Given the description of an element on the screen output the (x, y) to click on. 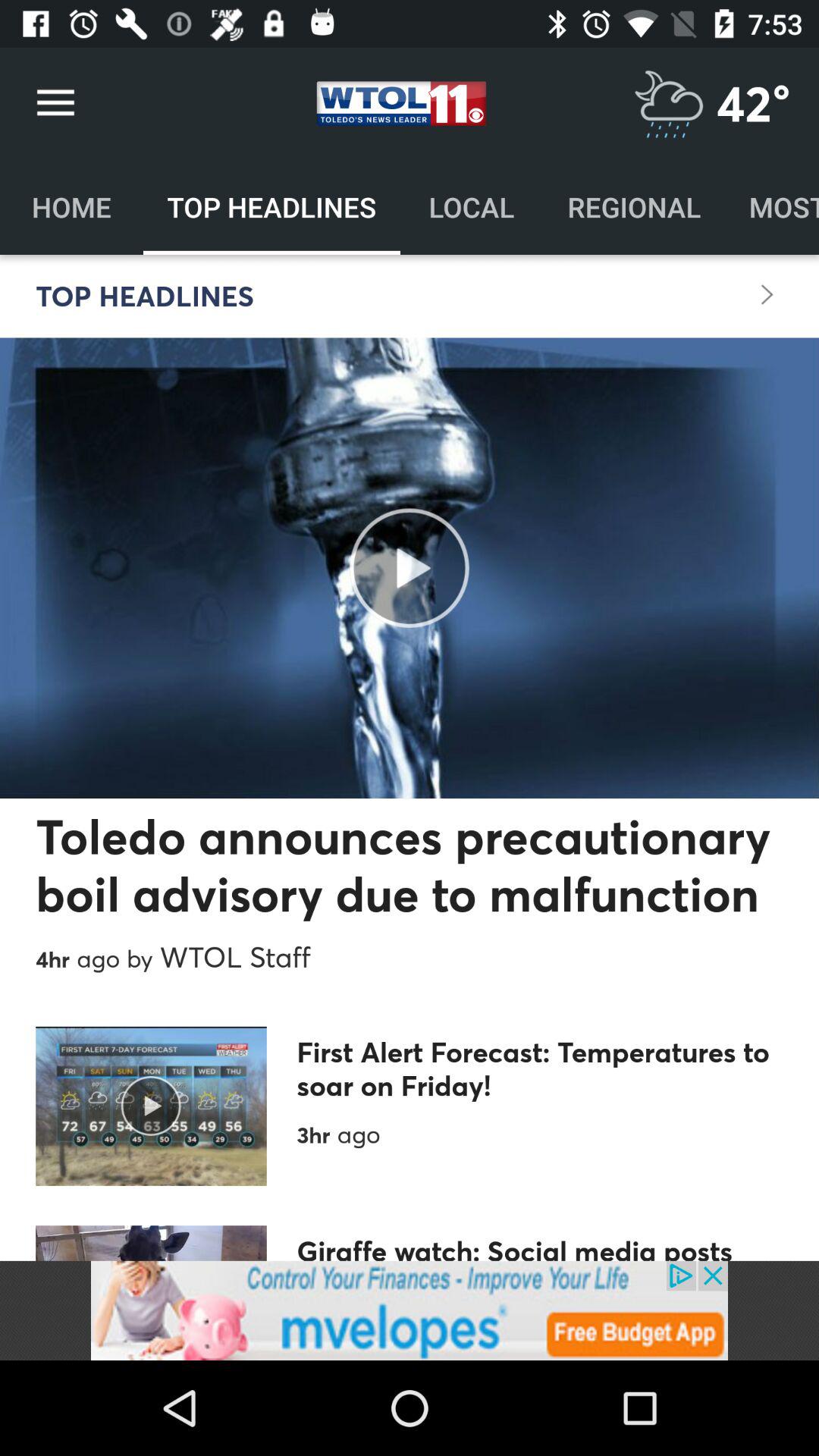
see the weather (668, 103)
